Given the description of an element on the screen output the (x, y) to click on. 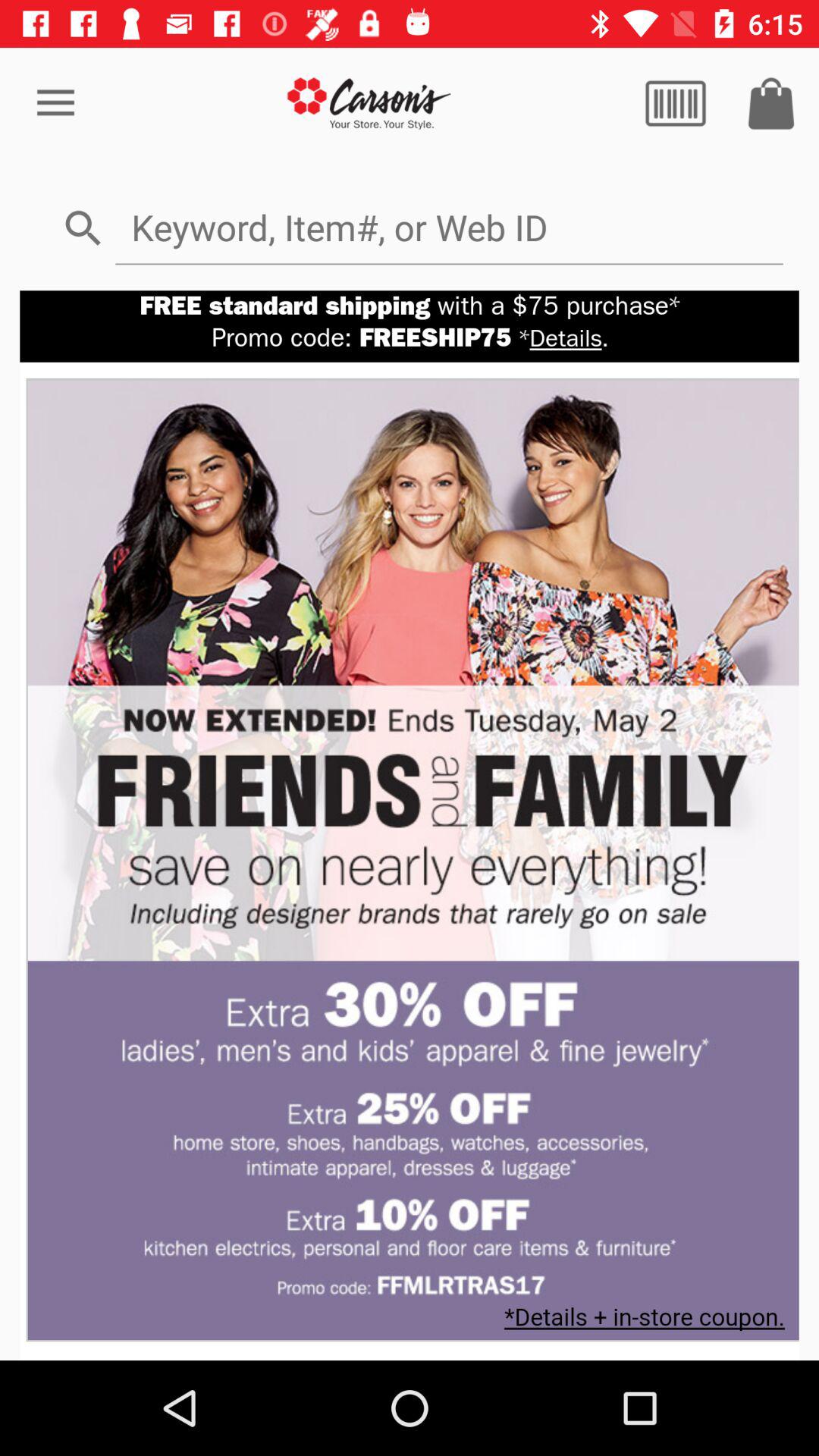
search bar (449, 227)
